Given the description of an element on the screen output the (x, y) to click on. 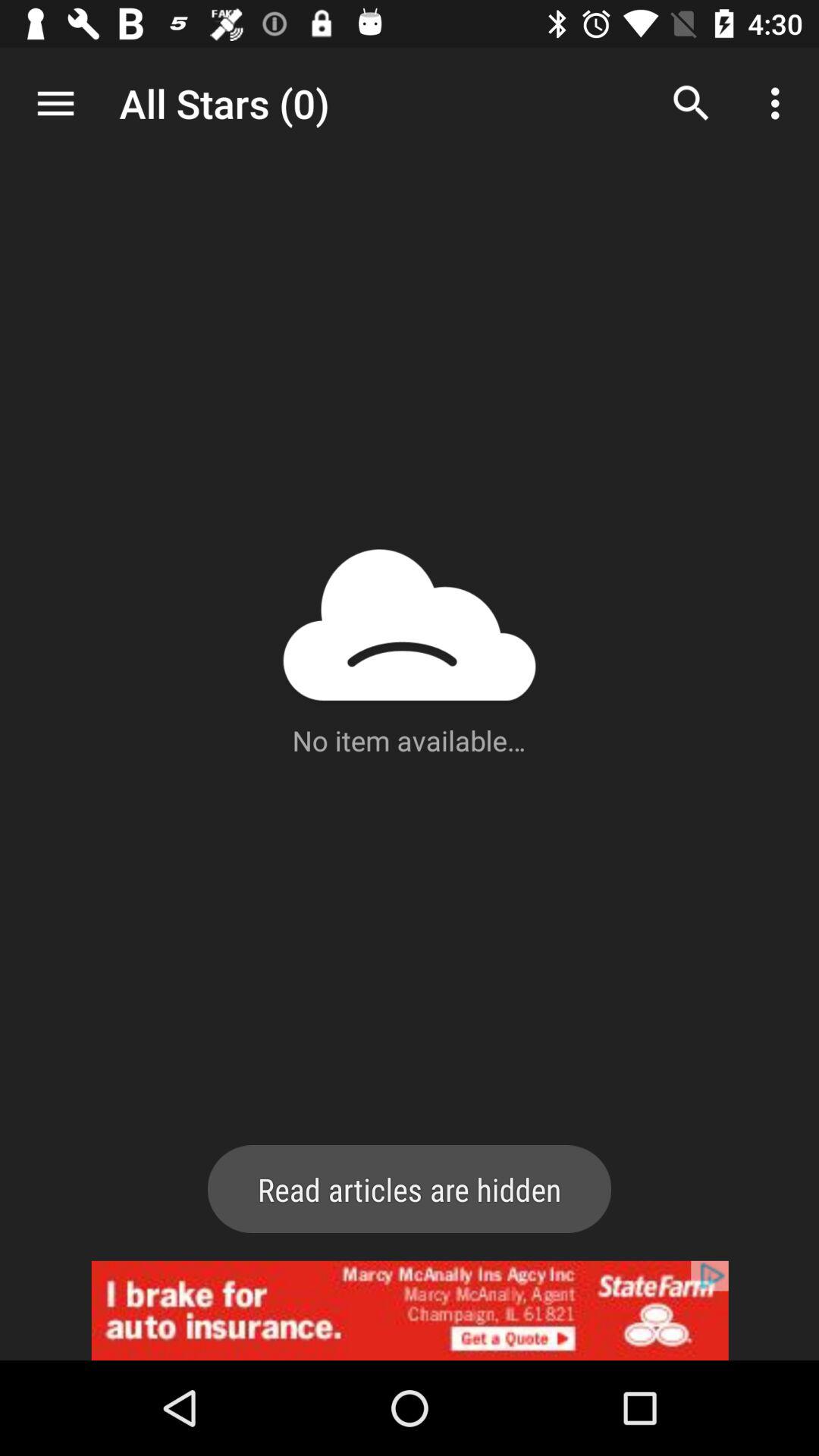
advertisement click (409, 1310)
